Given the description of an element on the screen output the (x, y) to click on. 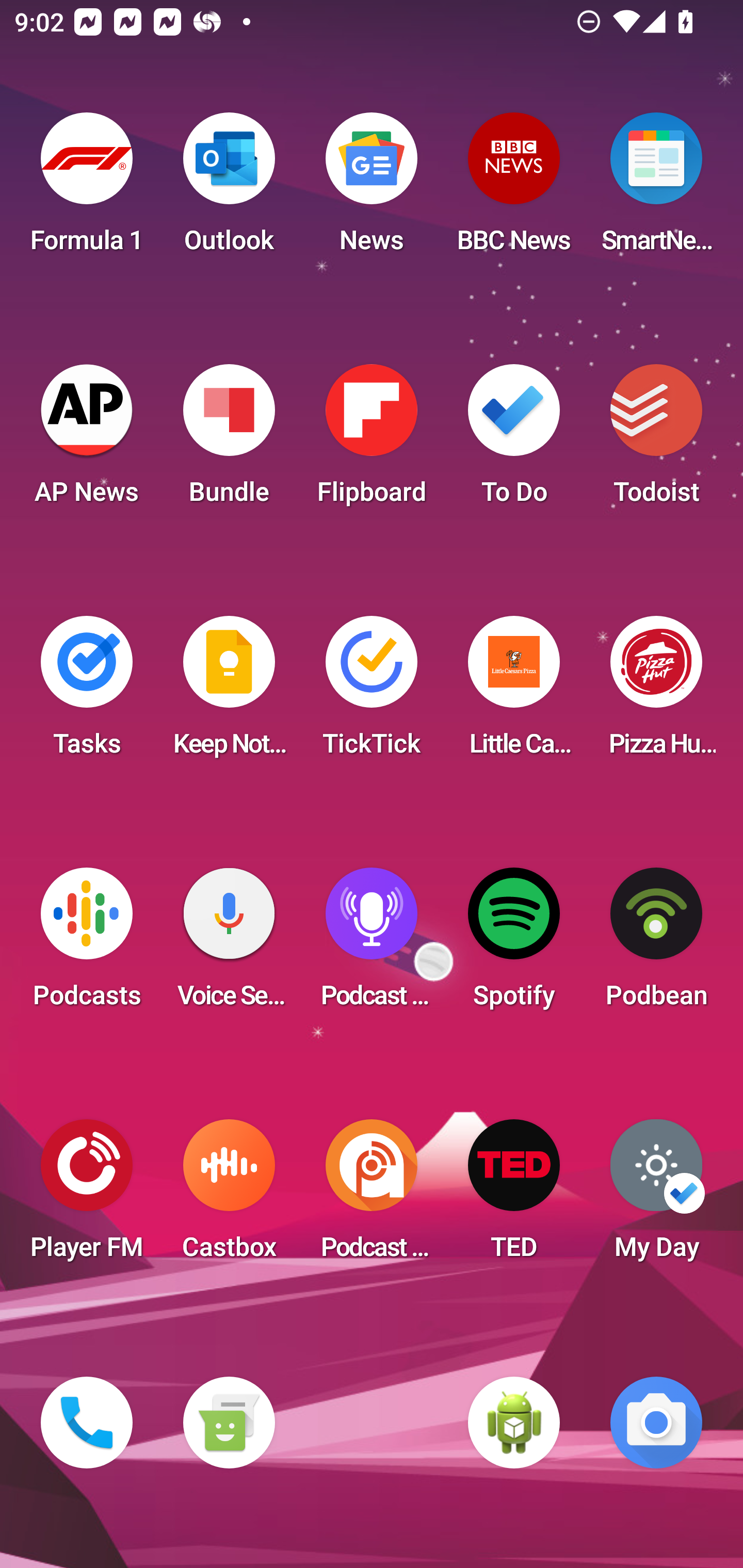
Formula 1 (86, 188)
Outlook (228, 188)
News (371, 188)
BBC News (513, 188)
SmartNews (656, 188)
AP News (86, 440)
Bundle (228, 440)
Flipboard (371, 440)
To Do (513, 440)
Todoist (656, 440)
Tasks (86, 692)
Keep Notes (228, 692)
TickTick (371, 692)
Little Caesars Pizza (513, 692)
Pizza Hut HK & Macau (656, 692)
Podcasts (86, 943)
Voice Search (228, 943)
Podcast Player (371, 943)
Spotify (513, 943)
Podbean (656, 943)
Player FM (86, 1195)
Castbox (228, 1195)
Podcast Addict (371, 1195)
TED (513, 1195)
My Day (656, 1195)
Phone (86, 1422)
Messaging (228, 1422)
WebView Browser Tester (513, 1422)
Camera (656, 1422)
